Given the description of an element on the screen output the (x, y) to click on. 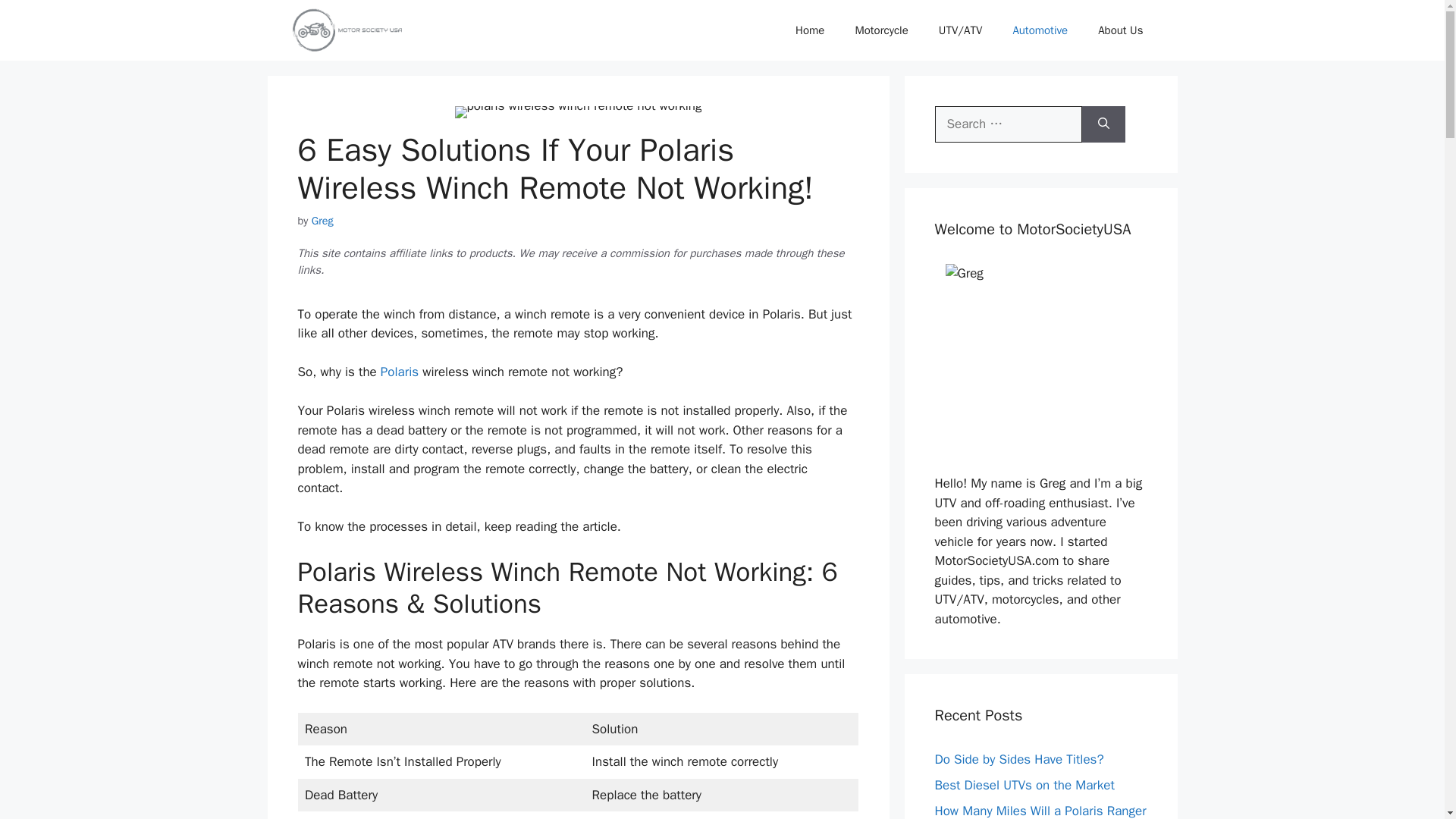
View all posts by Greg (322, 220)
How Many Miles Will a Polaris Ranger Last? (1039, 811)
Do Side by Sides Have Titles? (1018, 759)
Home (810, 30)
Polaris (399, 371)
Automotive (1040, 30)
About Us (1120, 30)
Motorcycle (881, 30)
Search for: (1007, 124)
Greg (322, 220)
Motor Society USA (346, 30)
Best Diesel UTVs on the Market (1023, 785)
